Given the description of an element on the screen output the (x, y) to click on. 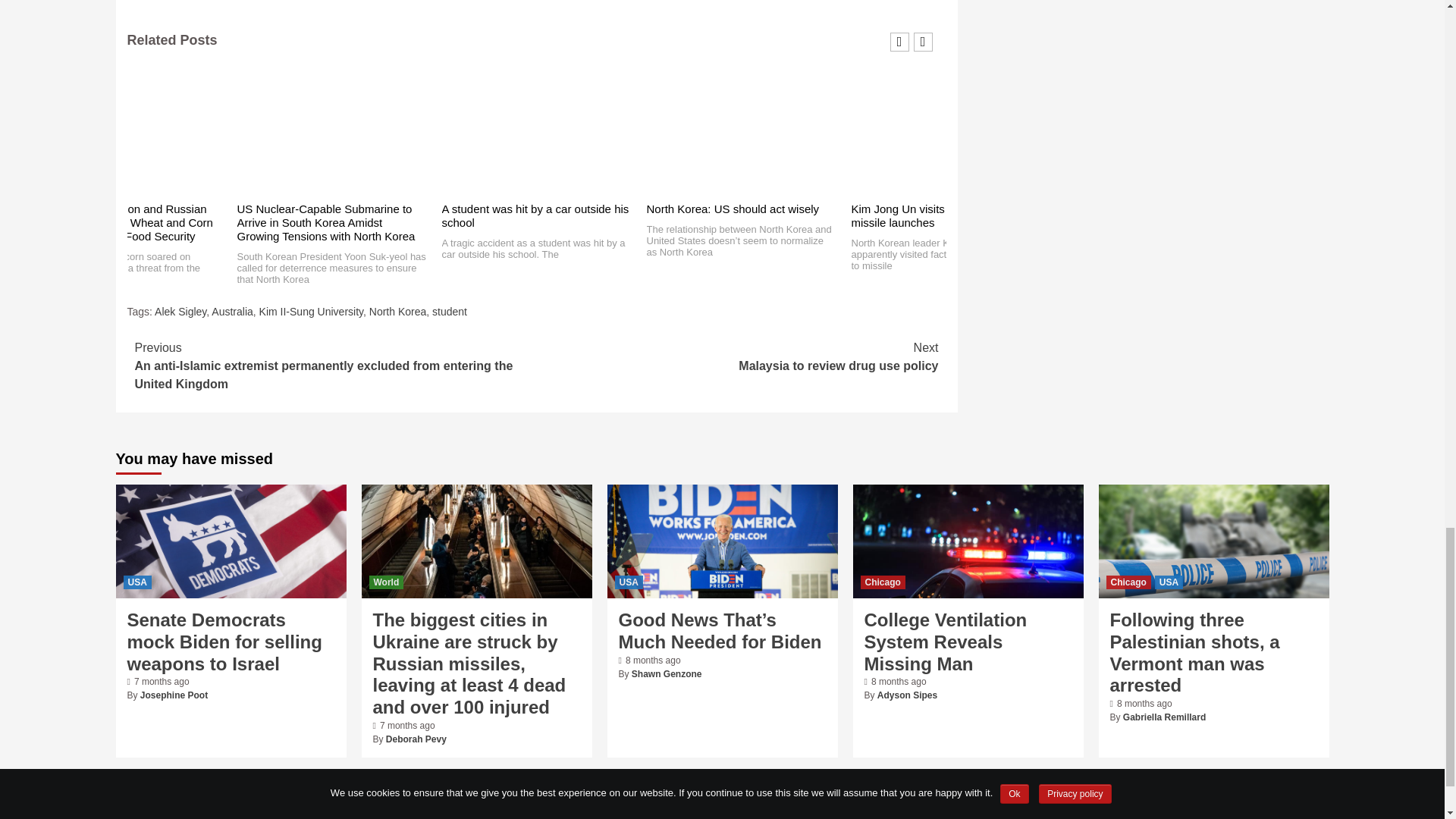
North Korea: US should act wisely (732, 208)
A student was hit by a car outside his school (534, 215)
Kim Jong Un visits factories linked to missile launches (942, 215)
